Given the description of an element on the screen output the (x, y) to click on. 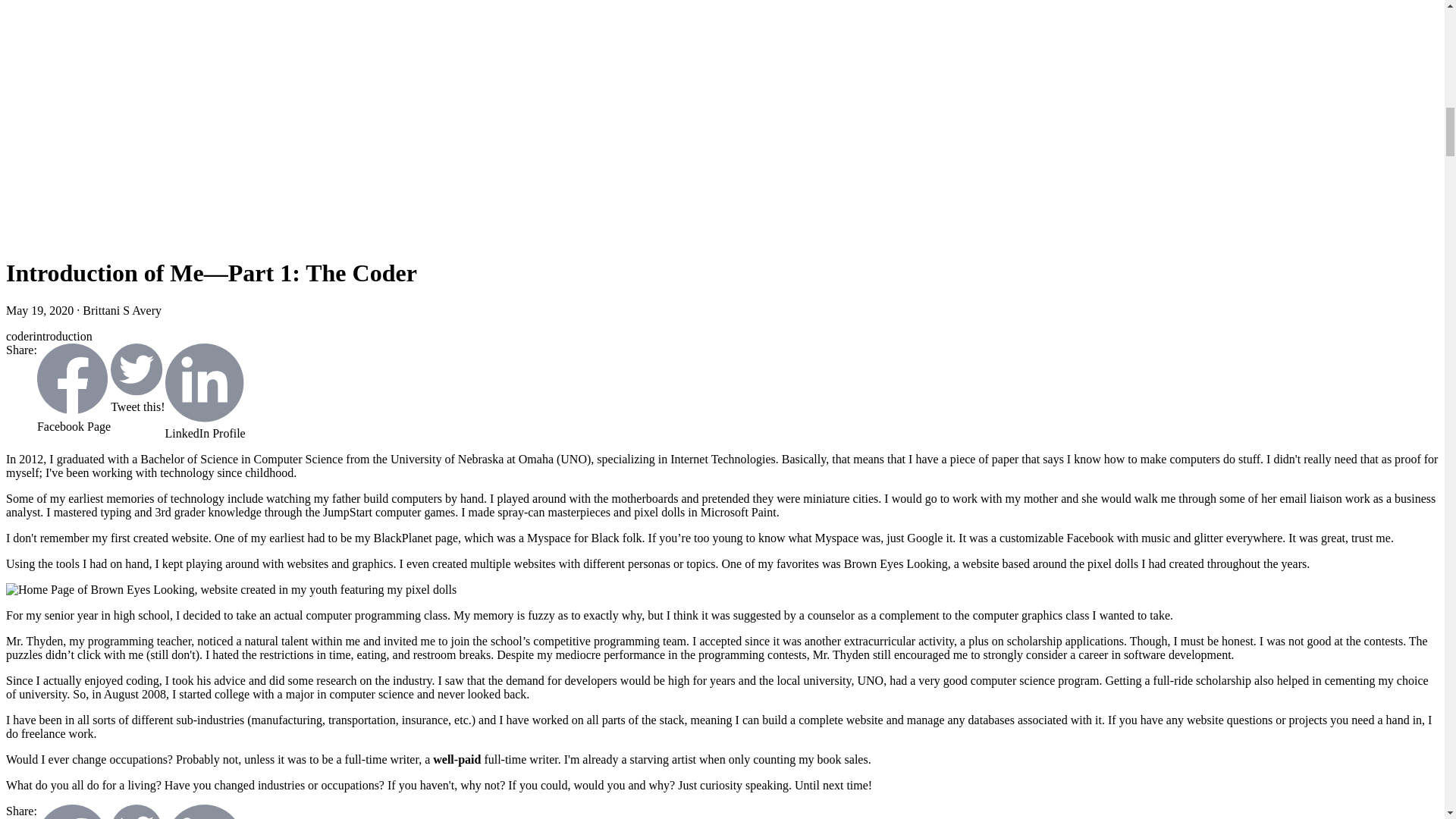
Facebook Page (73, 811)
Tweet this! (137, 811)
LinkedIn Profile (205, 811)
